Given the description of an element on the screen output the (x, y) to click on. 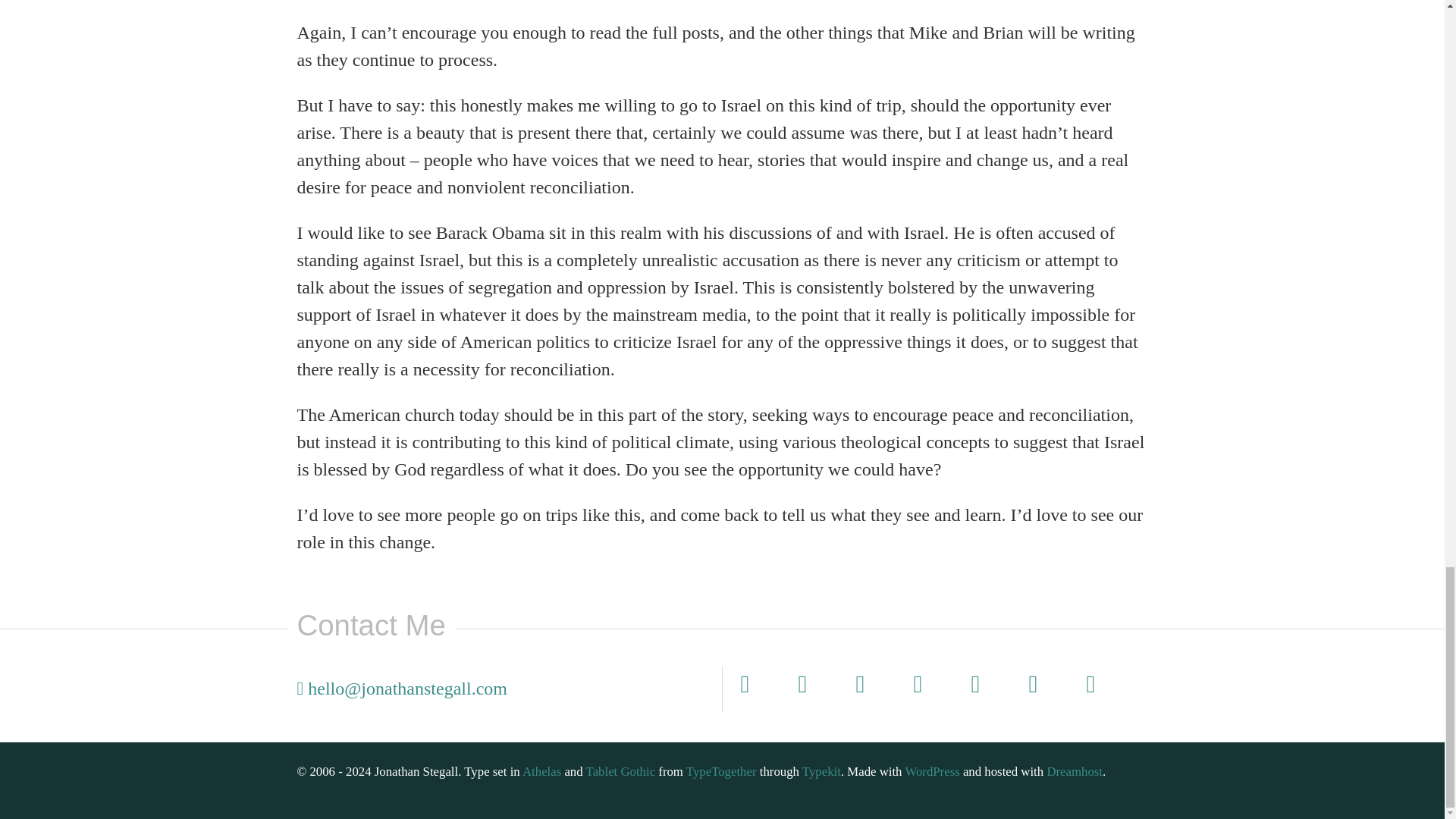
Tablet Gothic (621, 771)
Typekit (821, 771)
Dreamhost (1074, 771)
Athelas (541, 771)
TypeTogether (721, 771)
WordPress (931, 771)
